Given the description of an element on the screen output the (x, y) to click on. 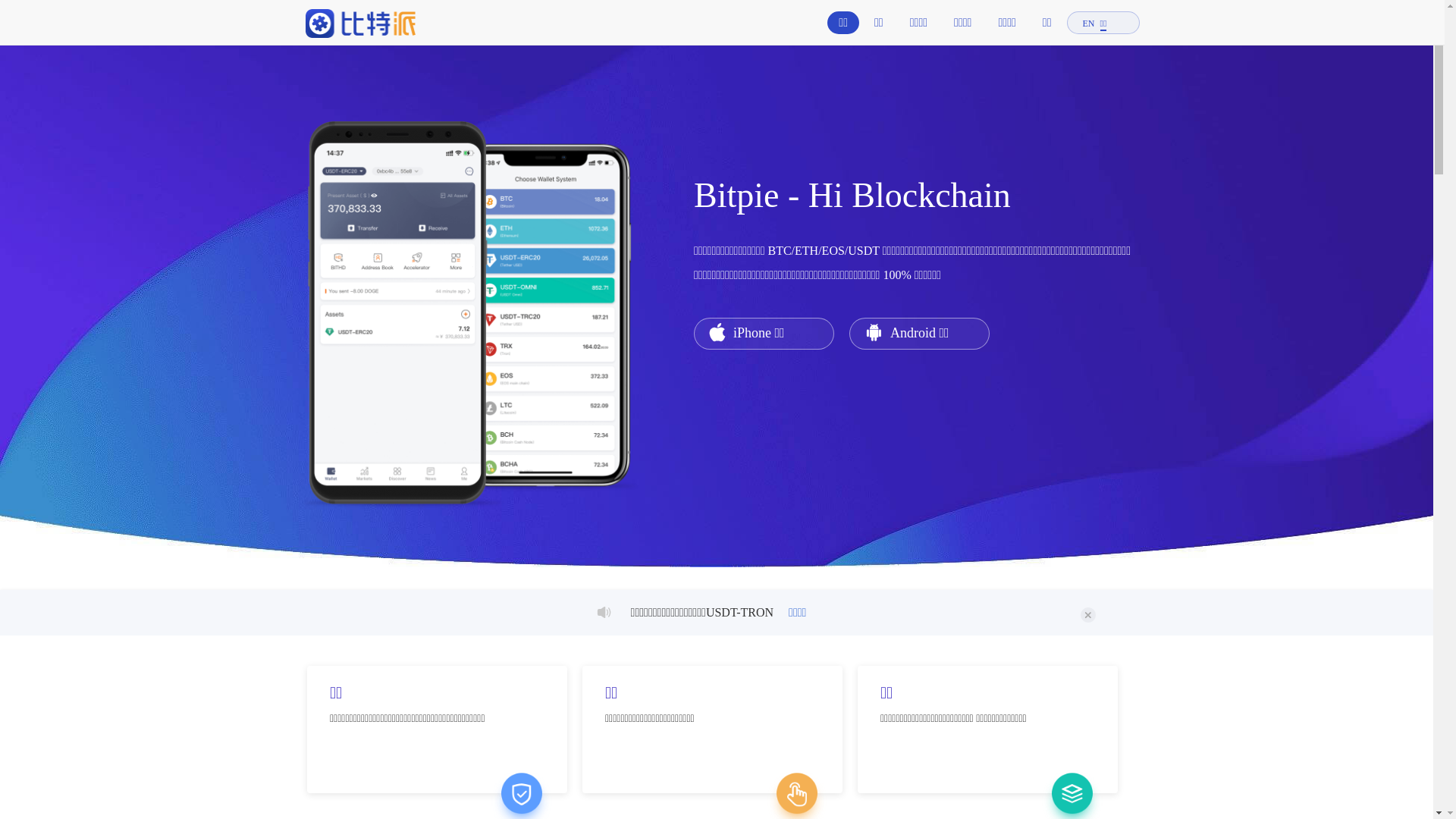
EN Element type: text (1088, 24)
